Given the description of an element on the screen output the (x, y) to click on. 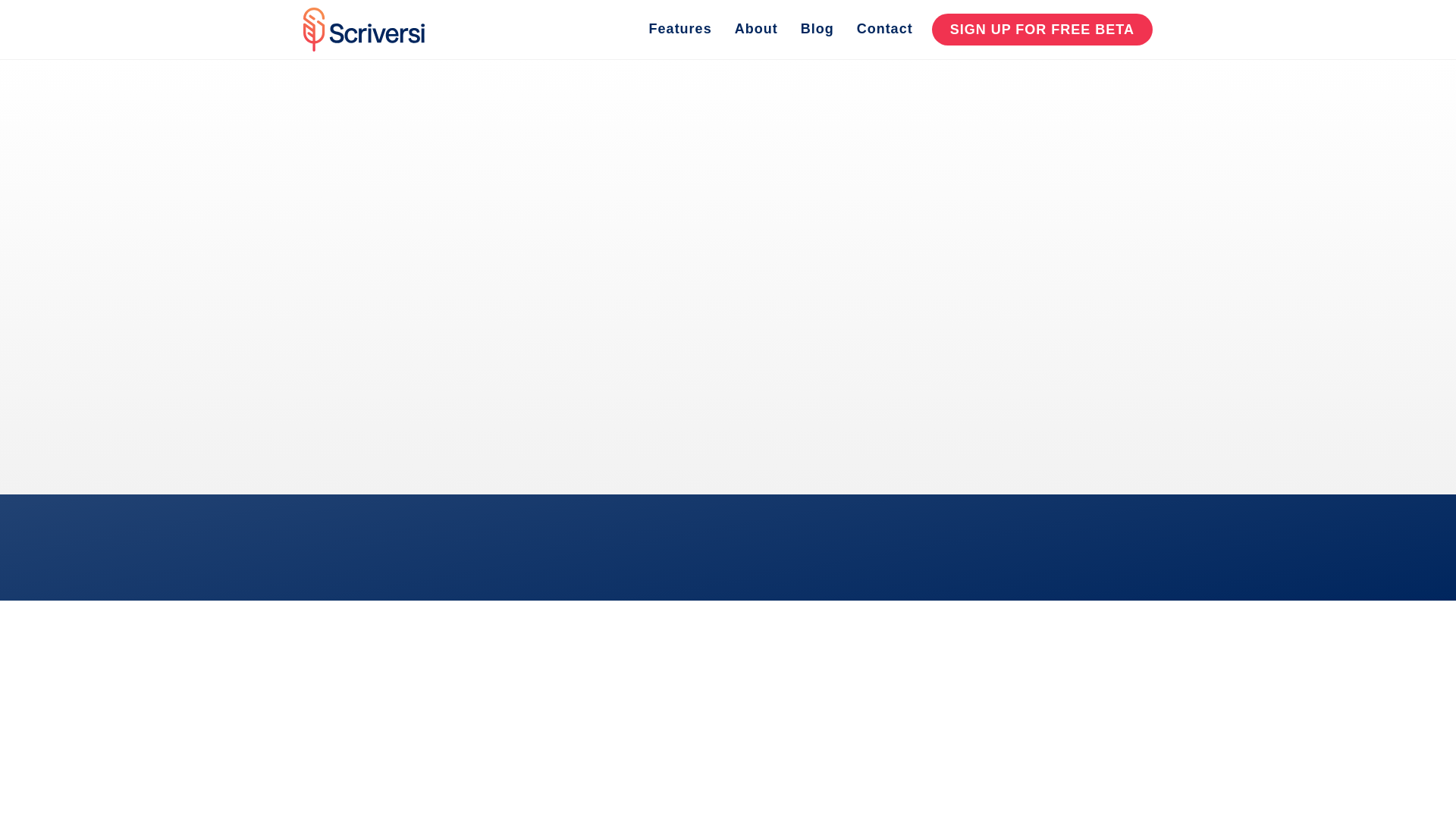
Features (680, 29)
Blog (817, 29)
About (756, 29)
Contact (884, 29)
SIGN UP FOR FREE BETA (1042, 29)
